Given the description of an element on the screen output the (x, y) to click on. 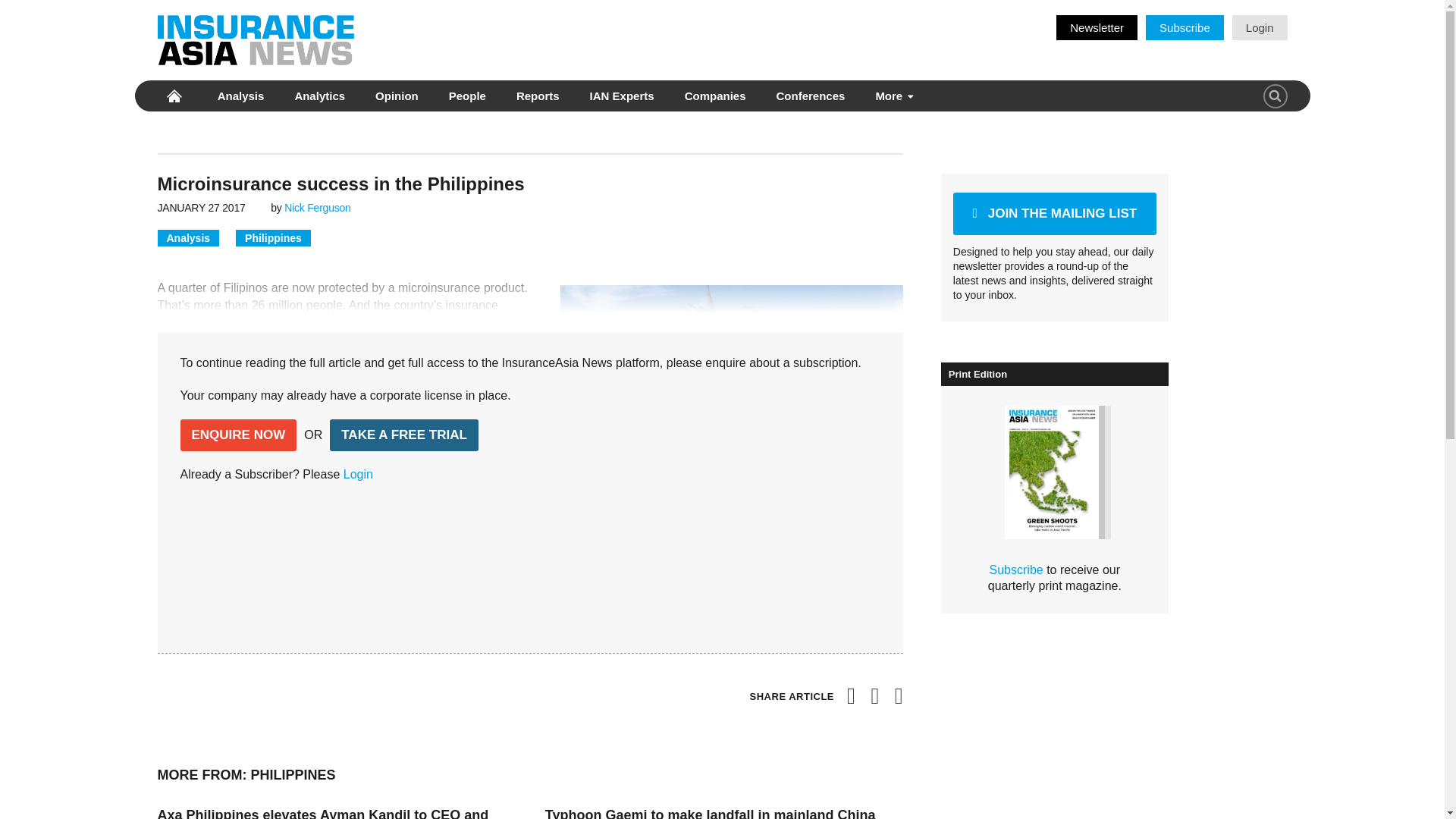
Companies (715, 95)
Analytics (319, 95)
Analysis (240, 95)
More (892, 95)
Subscribe (1184, 27)
People (467, 95)
Conferences (809, 95)
Posts by Nick Ferguson (316, 207)
IAN Experts (622, 95)
Reports (537, 95)
Newsletter (1097, 27)
Login (1259, 27)
Opinion (396, 95)
